Given the description of an element on the screen output the (x, y) to click on. 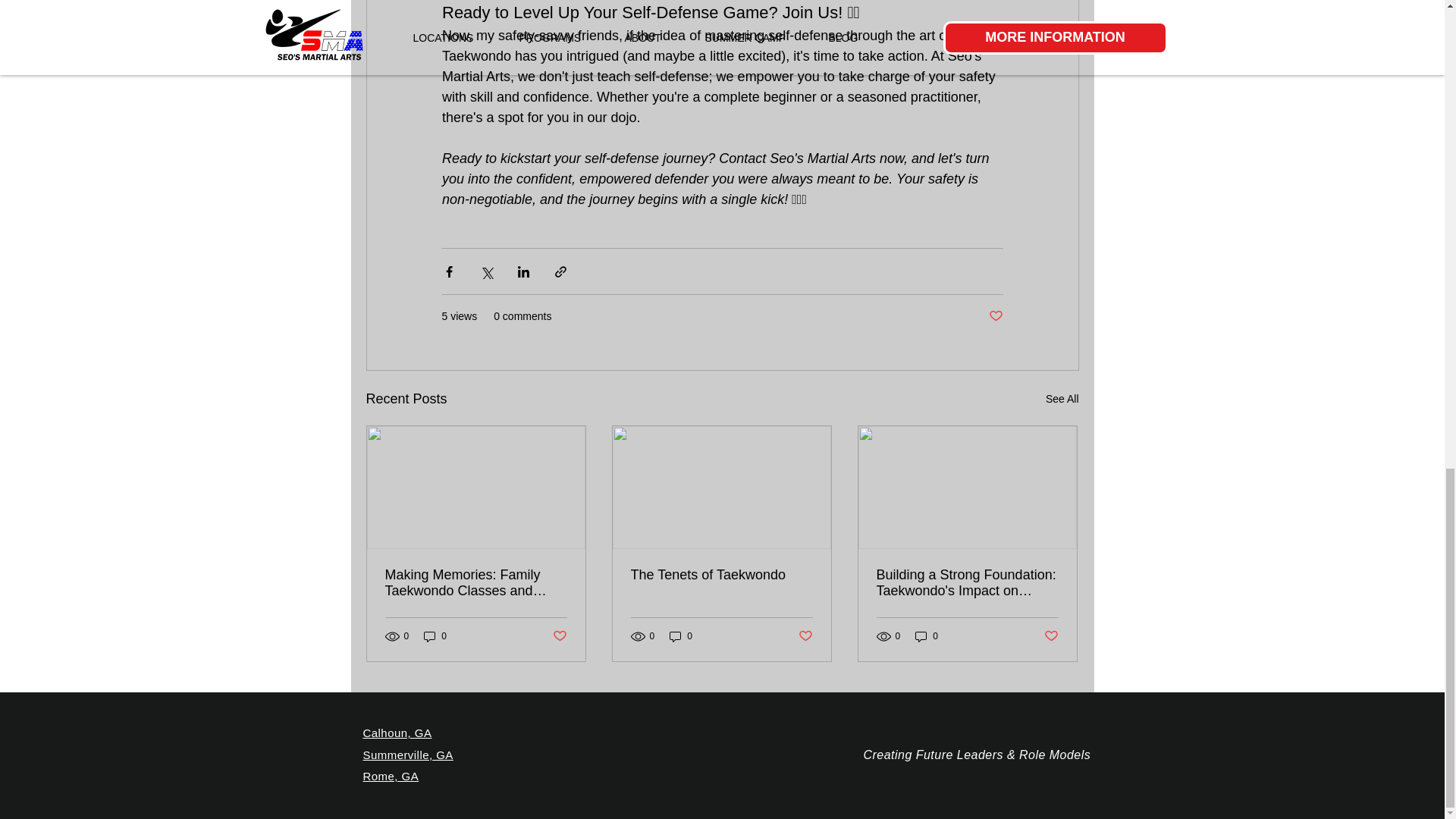
See All (1061, 399)
The Tenets of Taekwondo (721, 575)
Post not marked as liked (1050, 636)
Post not marked as liked (804, 636)
Post not marked as liked (995, 316)
0 (681, 636)
0 (435, 636)
Post not marked as liked (558, 636)
0 (926, 636)
